Given the description of an element on the screen output the (x, y) to click on. 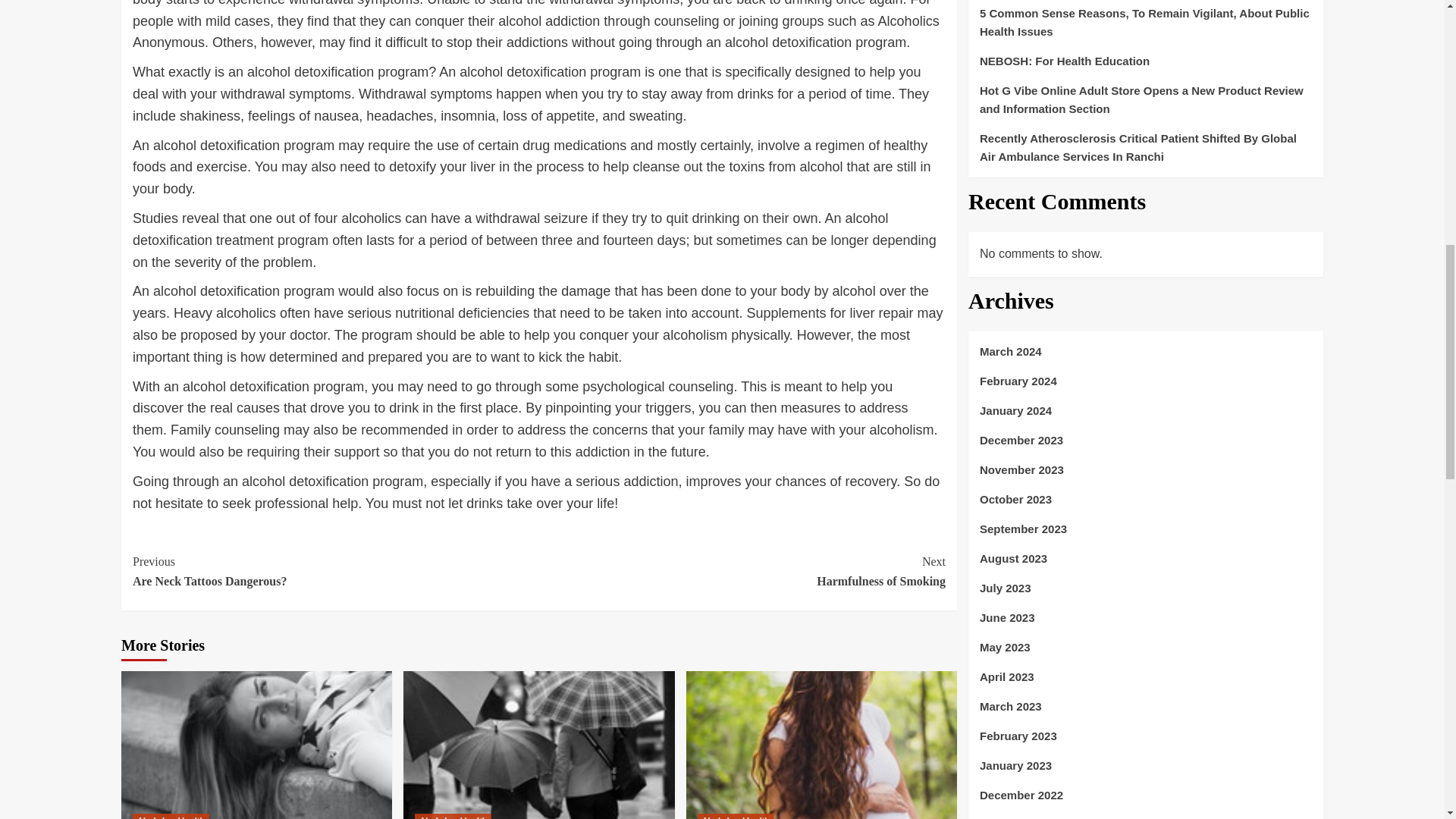
Cerebral Palsy Therapy (820, 744)
Alcohol Breathalyzer For The Win! (1145, 2)
Alcohol and health (735, 816)
How to Stop Drinking Alcohol on Your Own (538, 744)
Alcohol and health (170, 816)
Alcohol Breathalyzer For The Win! (255, 744)
Alcohol and health (453, 816)
